Given the description of an element on the screen output the (x, y) to click on. 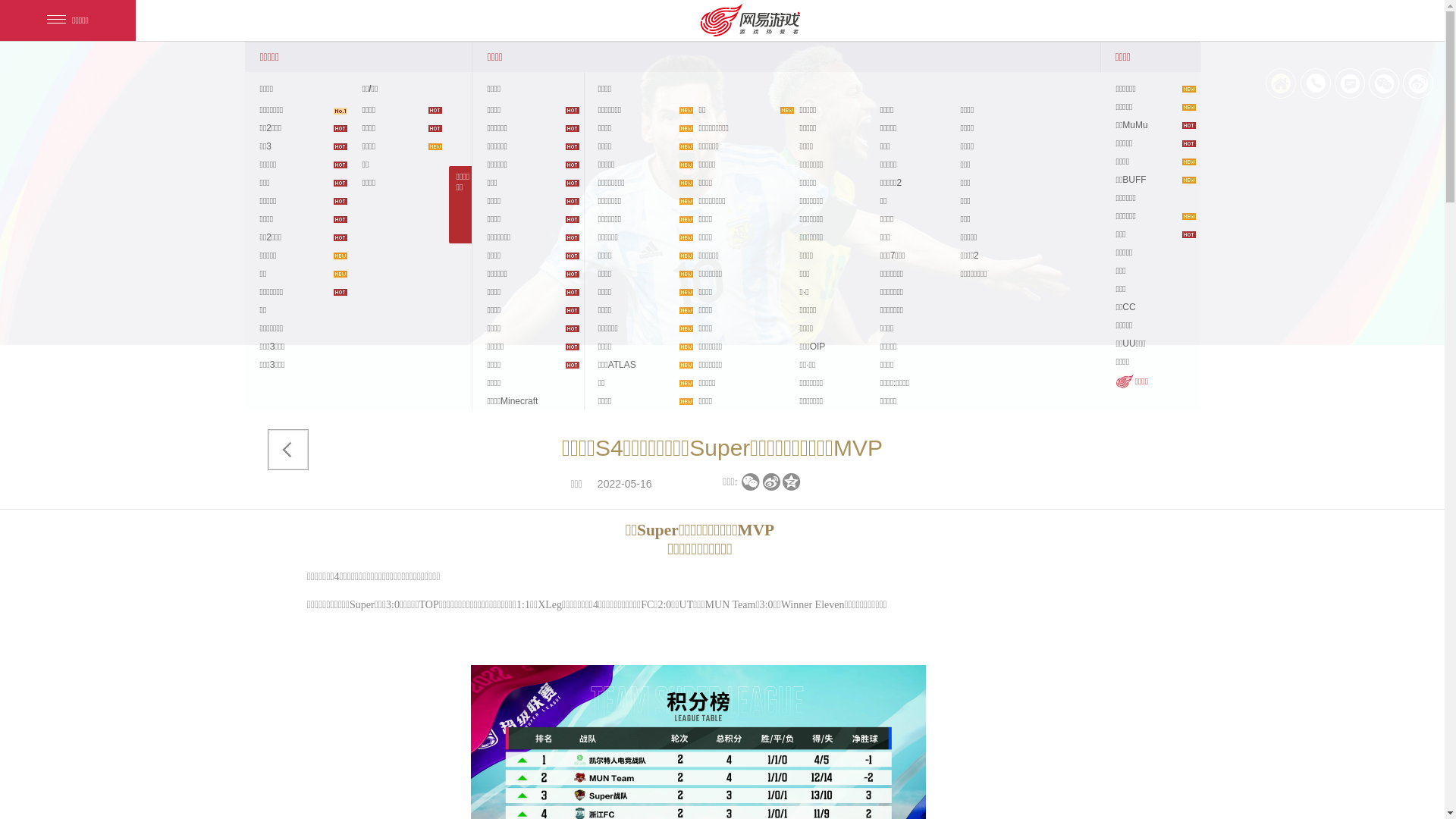
logo Element type: hover (89, 74)
